Given the description of an element on the screen output the (x, y) to click on. 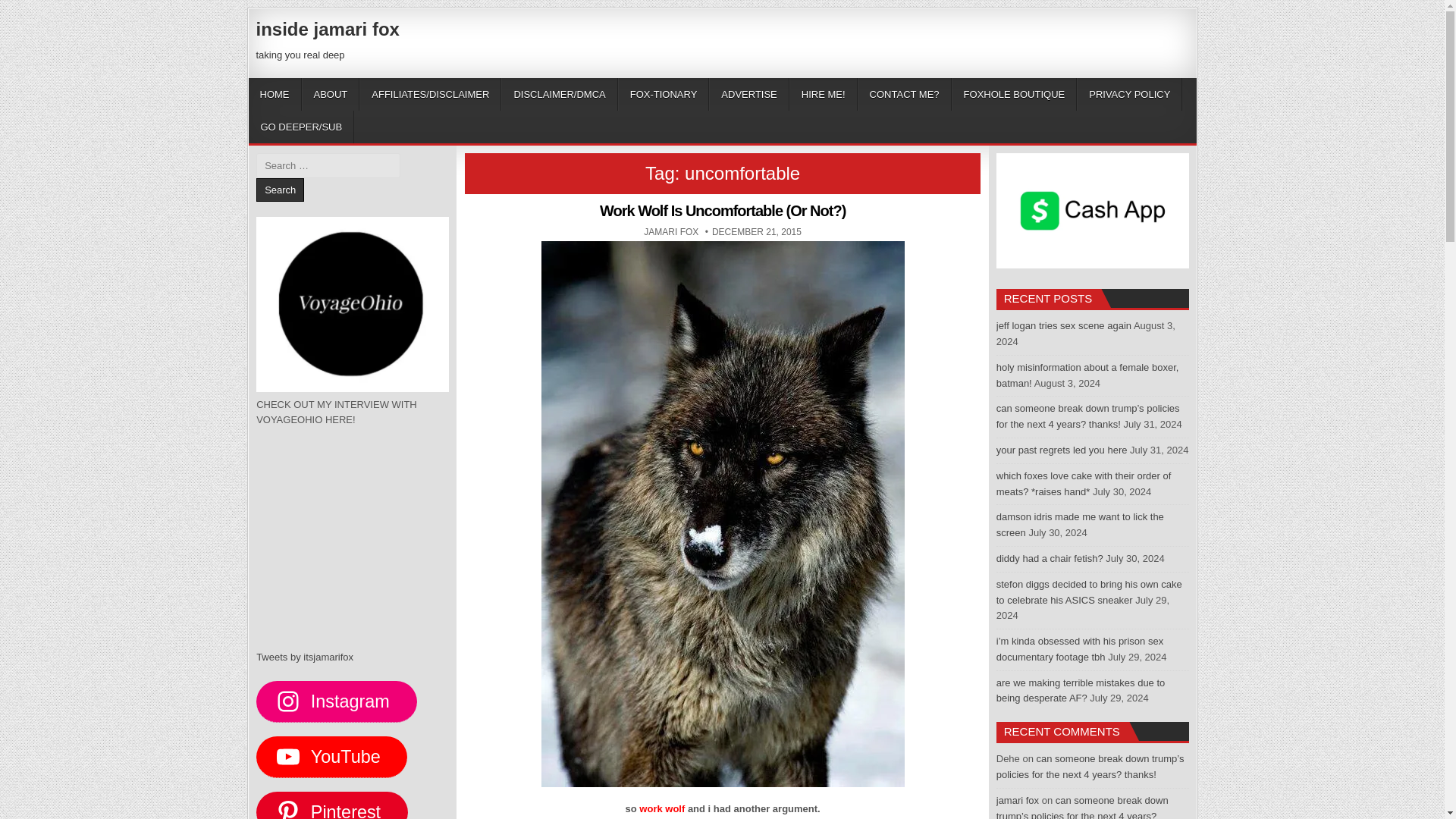
jeff logan tries sex scene again (1063, 325)
FOX-TIONARY (663, 93)
YouTube (331, 756)
HOME (670, 231)
Search (274, 93)
HIRE ME! (280, 189)
ADVERTISE (823, 93)
ABOUT (749, 93)
Search (330, 93)
FOXHOLE BOUTIQUE (280, 189)
Pinterest (1014, 93)
Tweets by itsjamarifox (331, 805)
PRIVACY POLICY (304, 656)
inside jamari fox (1129, 93)
